Given the description of an element on the screen output the (x, y) to click on. 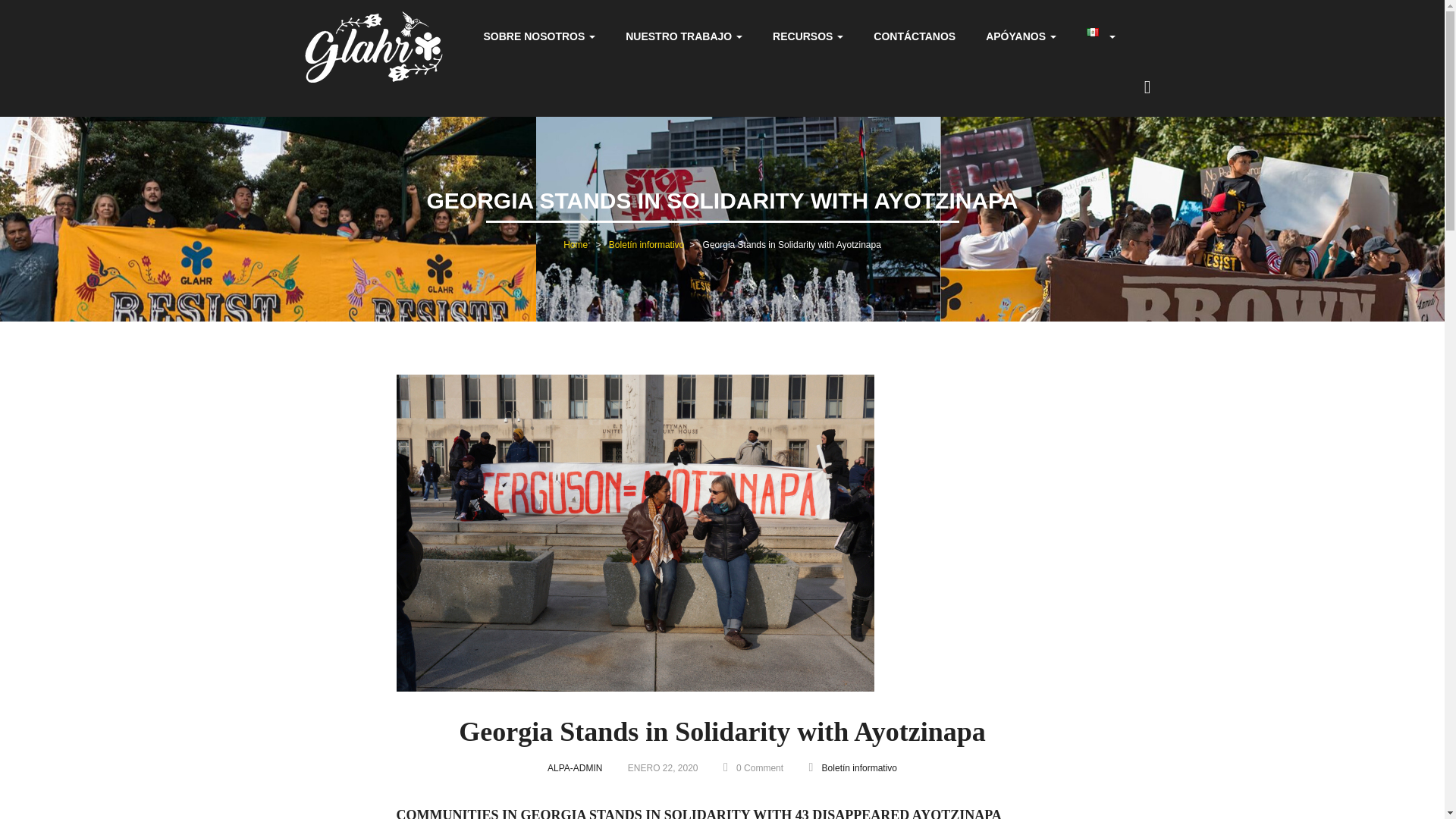
Entradas de alpa-admin (574, 767)
